Given the description of an element on the screen output the (x, y) to click on. 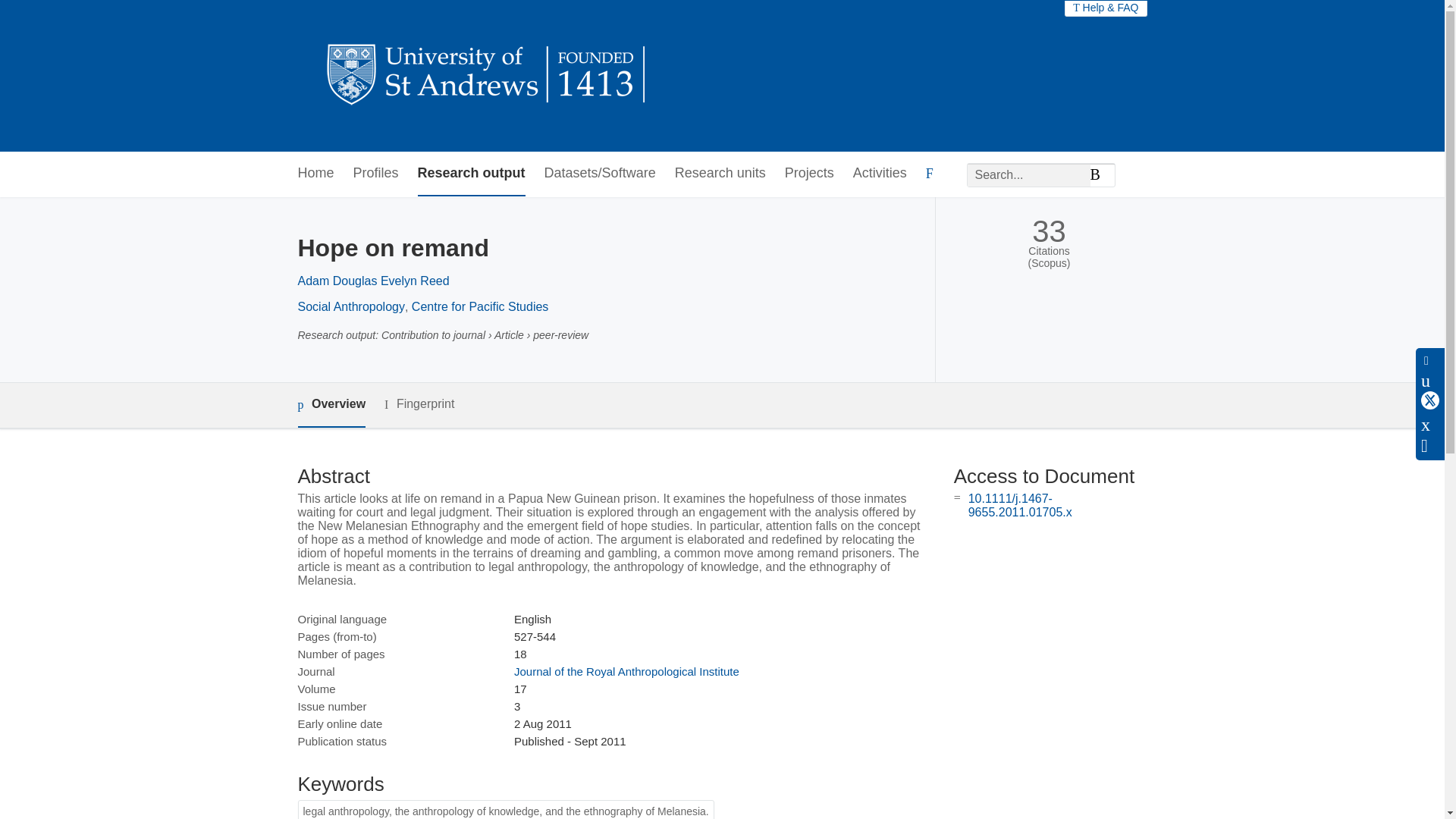
University of St Andrews Research Portal Home (487, 75)
Social Anthropology (350, 306)
Projects (809, 173)
Research output (471, 173)
Profiles (375, 173)
Overview (331, 405)
Activities (880, 173)
Fingerprint (419, 404)
Adam Douglas Evelyn Reed (372, 280)
